Given the description of an element on the screen output the (x, y) to click on. 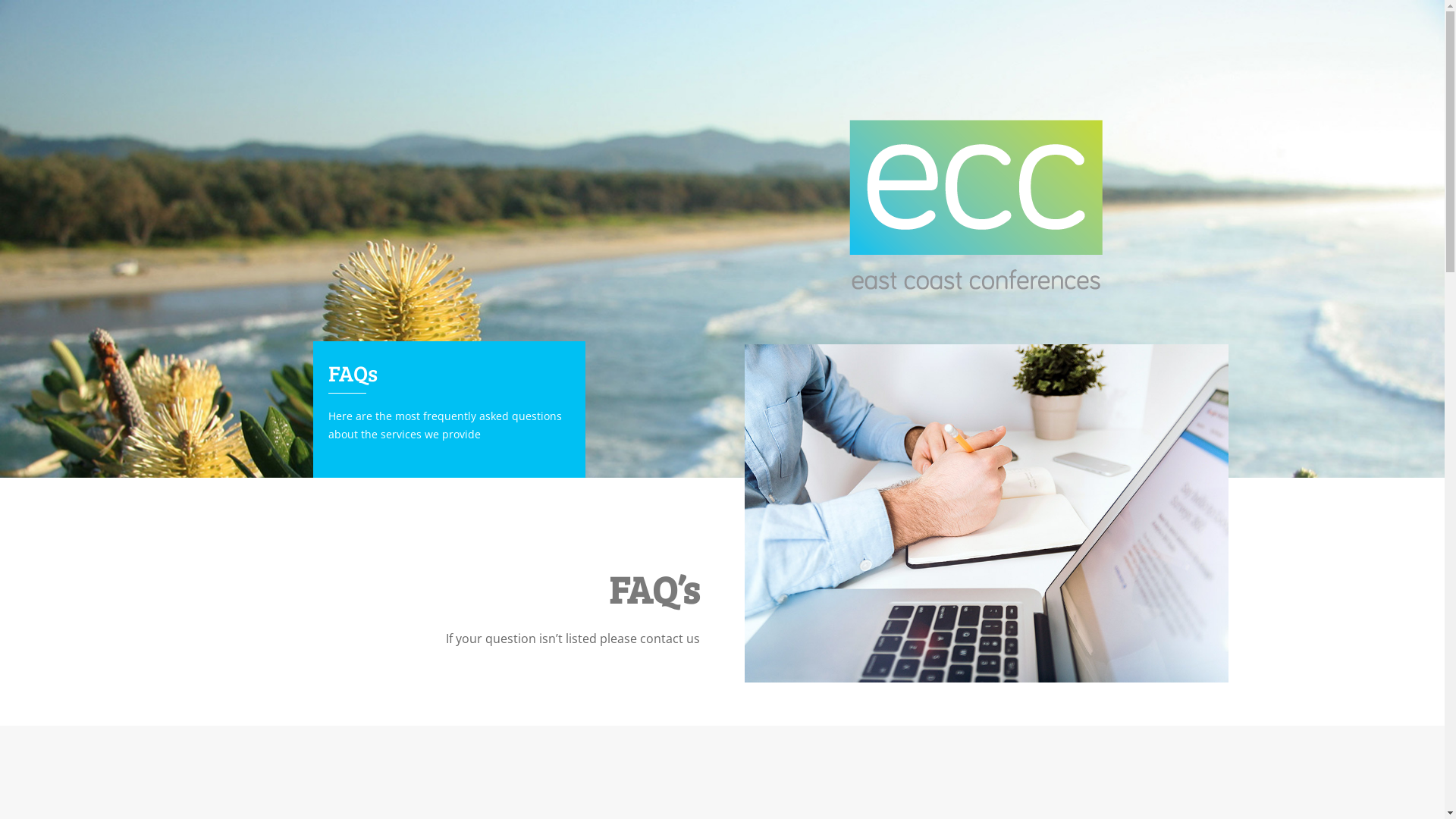
East Coast Conferences Element type: hover (977, 204)
